Given the description of an element on the screen output the (x, y) to click on. 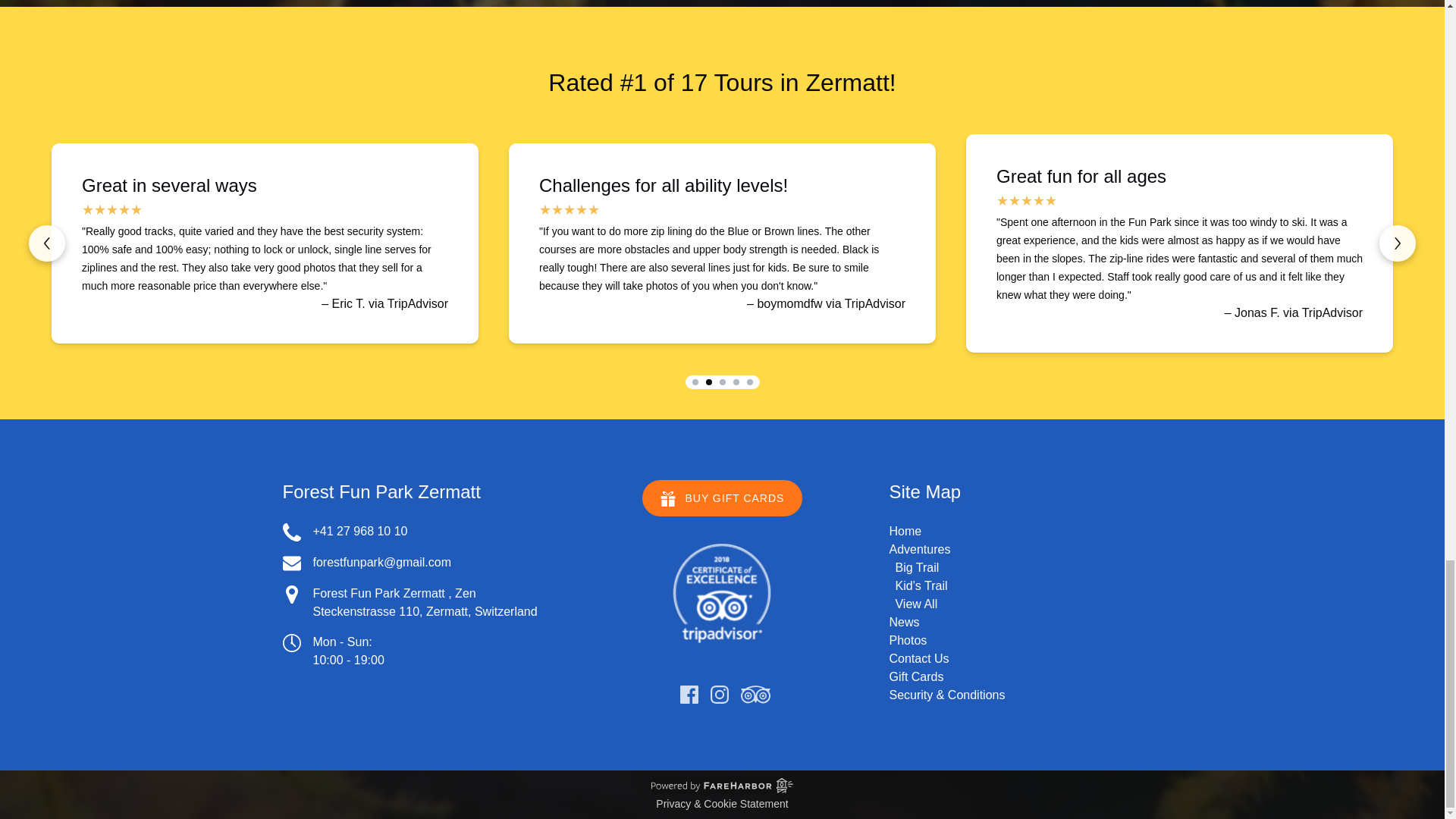
GIFT (668, 498)
2 (707, 381)
Home (904, 530)
Contact Us (918, 658)
Gift Cards (915, 676)
Phone (290, 532)
Forest Fun Park Zermatt , Zen Steckenstrasse (394, 602)
Big Trail (917, 567)
110 (408, 611)
Adventures (919, 549)
Envelope (290, 563)
Visit our Facebook (688, 694)
Visit our TripAdvisor (755, 694)
News (903, 621)
Visit our Instagram (719, 694)
